Given the description of an element on the screen output the (x, y) to click on. 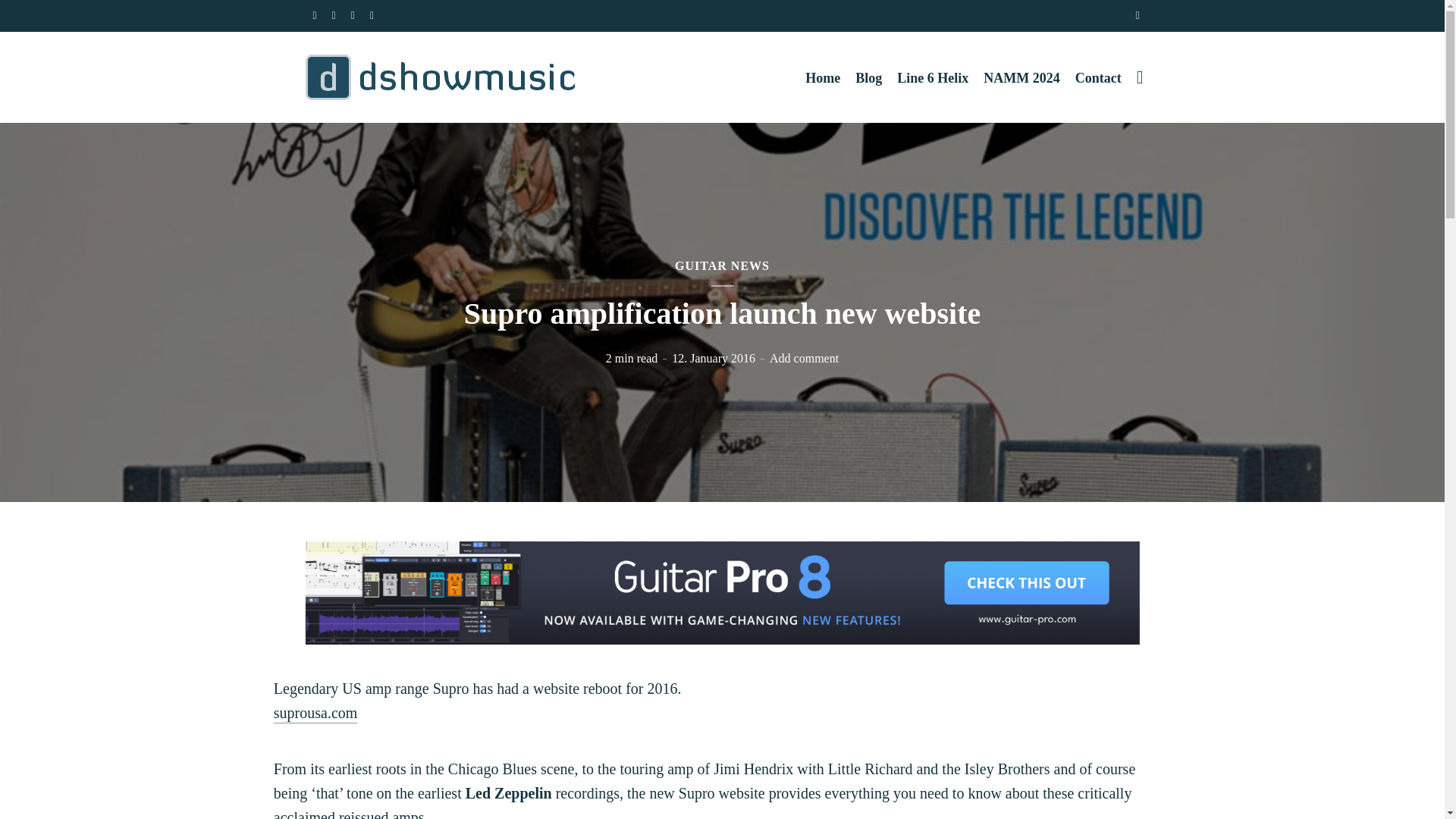
suprousa.com (315, 713)
GUITAR NEWS (722, 265)
Add comment (804, 358)
Home (822, 77)
Add comment (804, 358)
Contact (1098, 77)
Guitar Pro 8 - Buy now (721, 591)
Supro amplification launch new website (315, 713)
Line 6 Helix (932, 77)
NAMM 2024 (1021, 77)
